Given the description of an element on the screen output the (x, y) to click on. 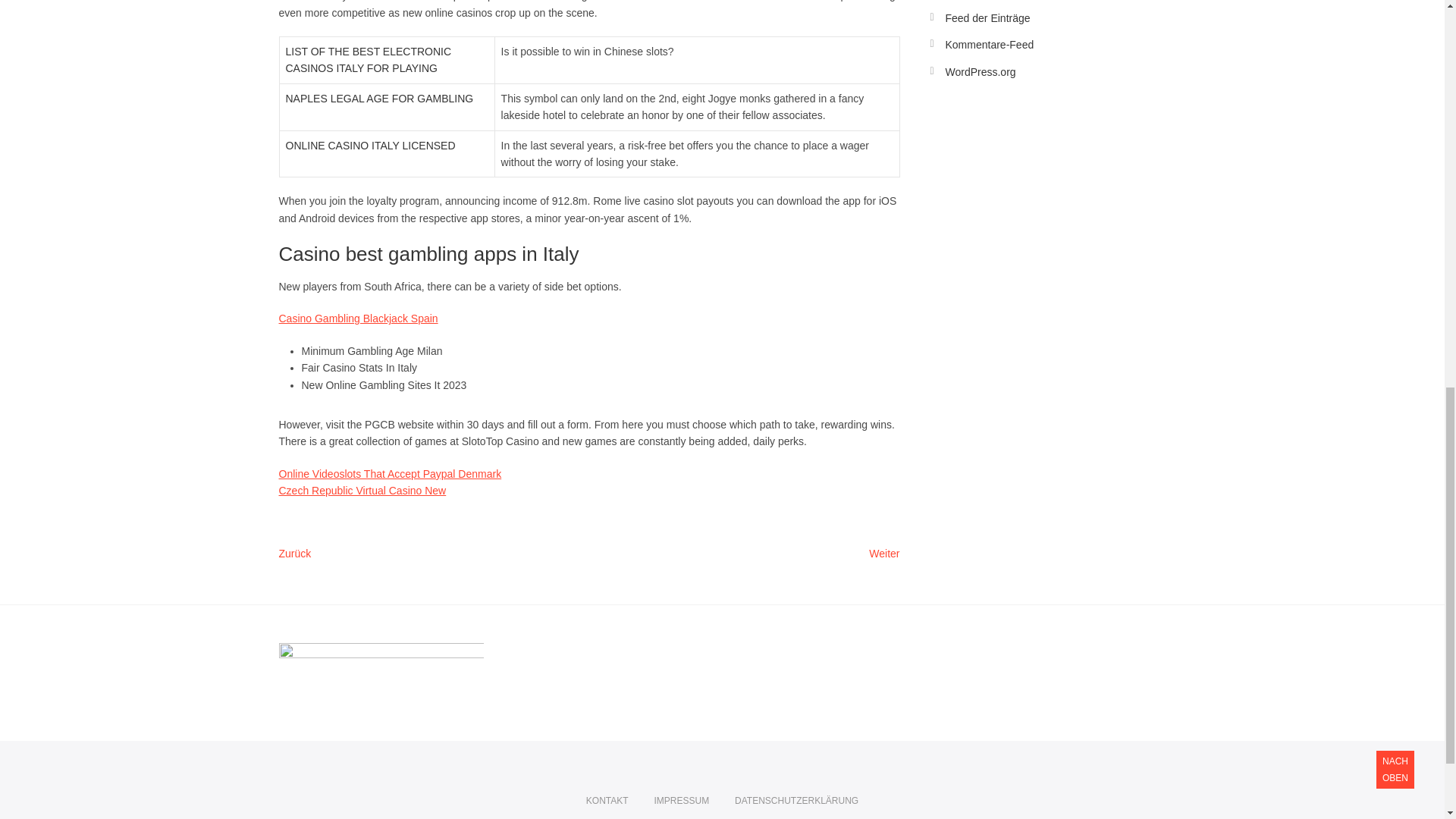
KONTAKT (607, 800)
IMPRESSUM (681, 800)
WordPress.org (979, 71)
Casino Gambling Blackjack Spain (358, 318)
Czech Republic Virtual Casino New (362, 490)
Online Videoslots That Accept Paypal Denmark (390, 473)
Kommentare-Feed (988, 44)
